Given the description of an element on the screen output the (x, y) to click on. 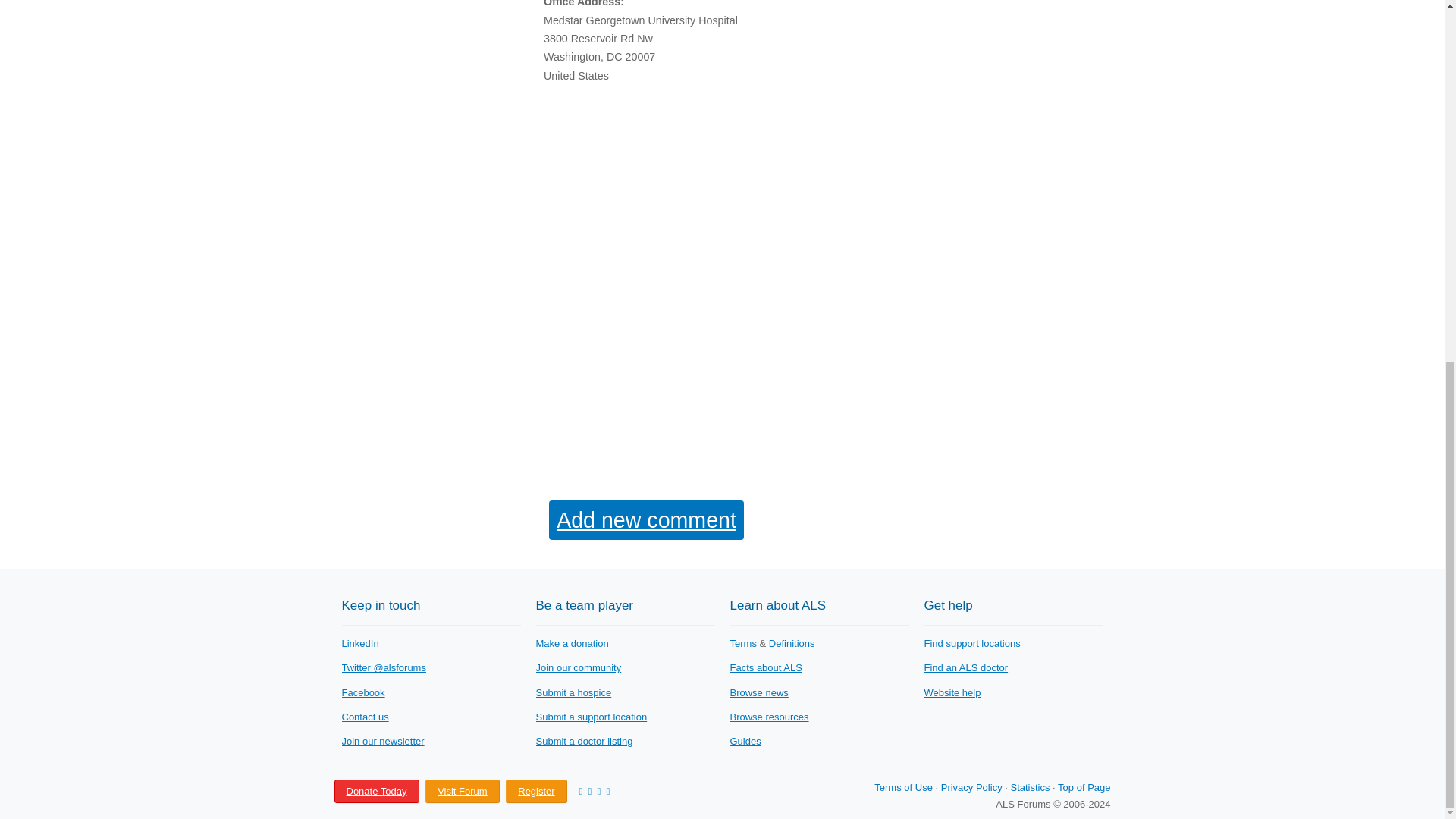
Join our newsletter (381, 740)
Share your thoughts and opinions related to this posting. (646, 519)
LinkedIn (359, 643)
Our Facebook (362, 692)
Our Twitter (382, 667)
Add a support location (590, 716)
Facebook (362, 692)
Contact us (364, 716)
Add hospice (573, 692)
Add new comment (646, 519)
